Given the description of an element on the screen output the (x, y) to click on. 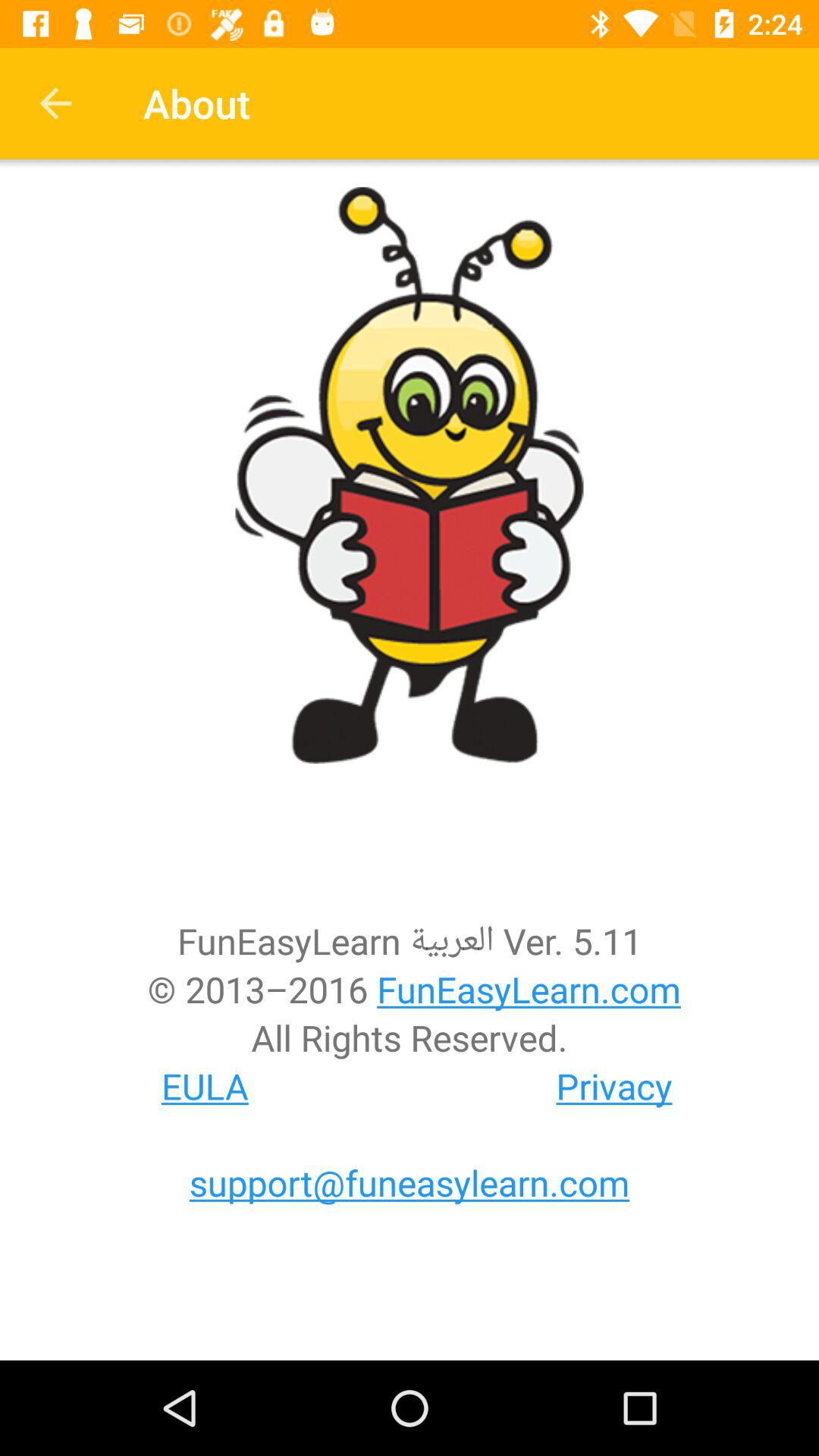
jump until the privacy (614, 1085)
